Given the description of an element on the screen output the (x, y) to click on. 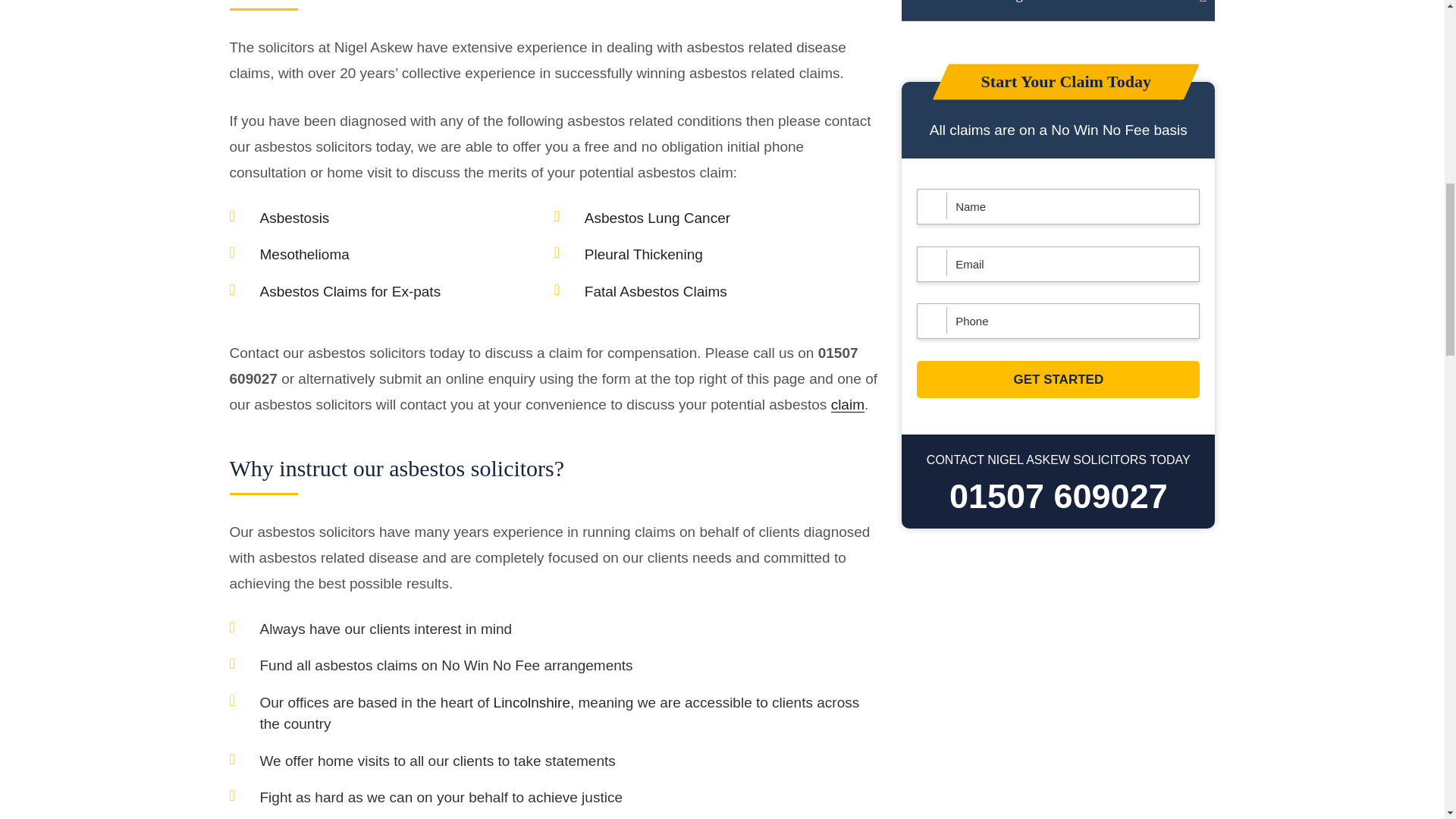
Get Started (1058, 379)
Pleural Thickening (1057, 11)
